Given the description of an element on the screen output the (x, y) to click on. 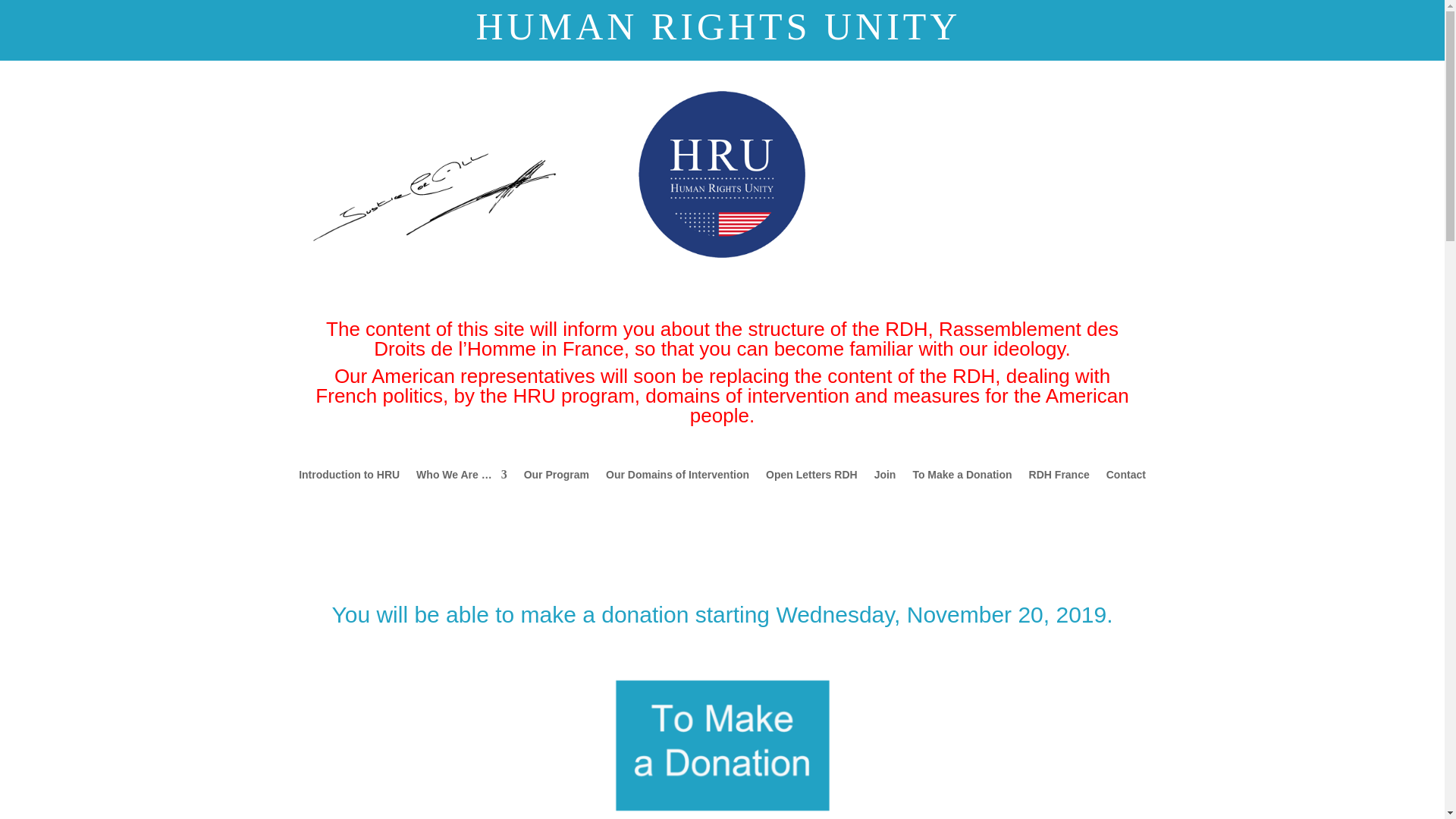
Open Letters RDH (811, 477)
Introduction to HRU (348, 477)
justice-for-all-300 (433, 197)
Join (885, 477)
Our Domains of Intervention (677, 477)
Contact (1125, 477)
RDH France (1059, 477)
To Make a Donation (961, 477)
Our Program (556, 477)
logo-hru-300 (722, 173)
